Given the description of an element on the screen output the (x, y) to click on. 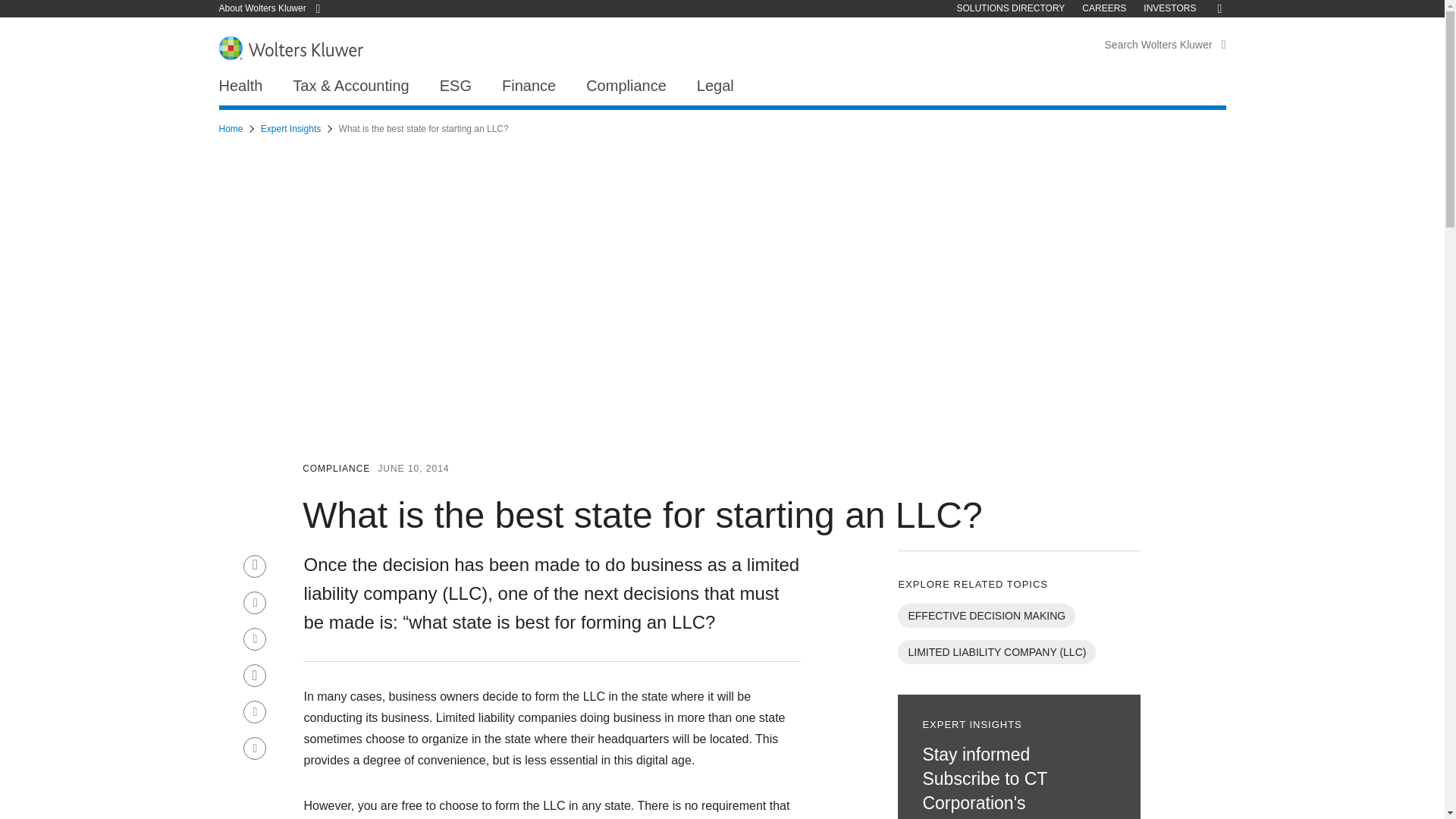
CAREERS (1103, 8)
About Wolters Kluwer (274, 7)
Logo (290, 47)
SOLUTIONS DIRECTORY (1010, 8)
INVESTORS (1168, 8)
